Given the description of an element on the screen output the (x, y) to click on. 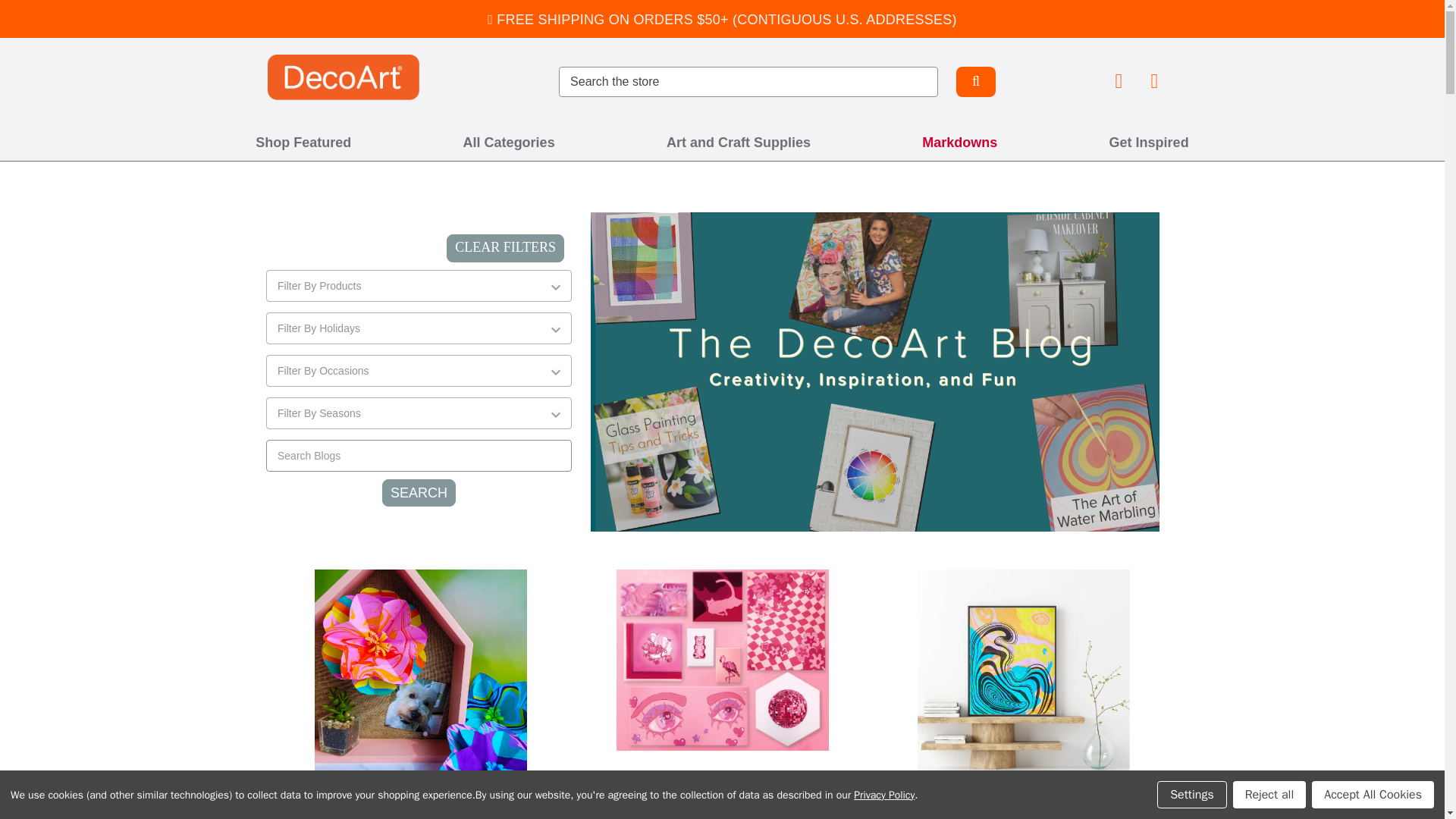
Shop Featured (302, 142)
DecoArt Acrylic Paint and Art Supplies (343, 76)
Shop Featured (302, 143)
